Given the description of an element on the screen output the (x, y) to click on. 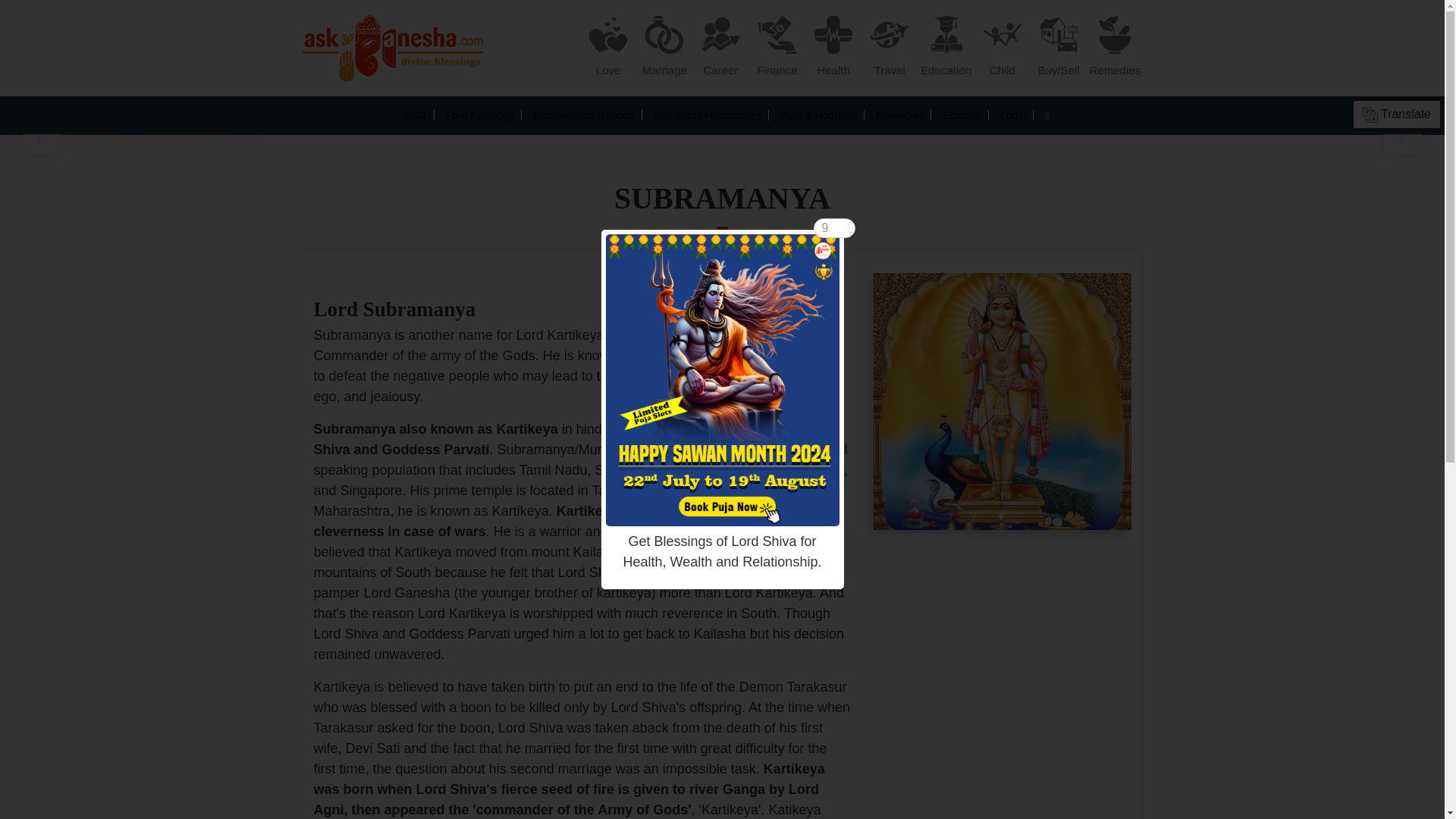
Free Astrology (479, 115)
2024 (413, 115)
